Given the description of an element on the screen output the (x, y) to click on. 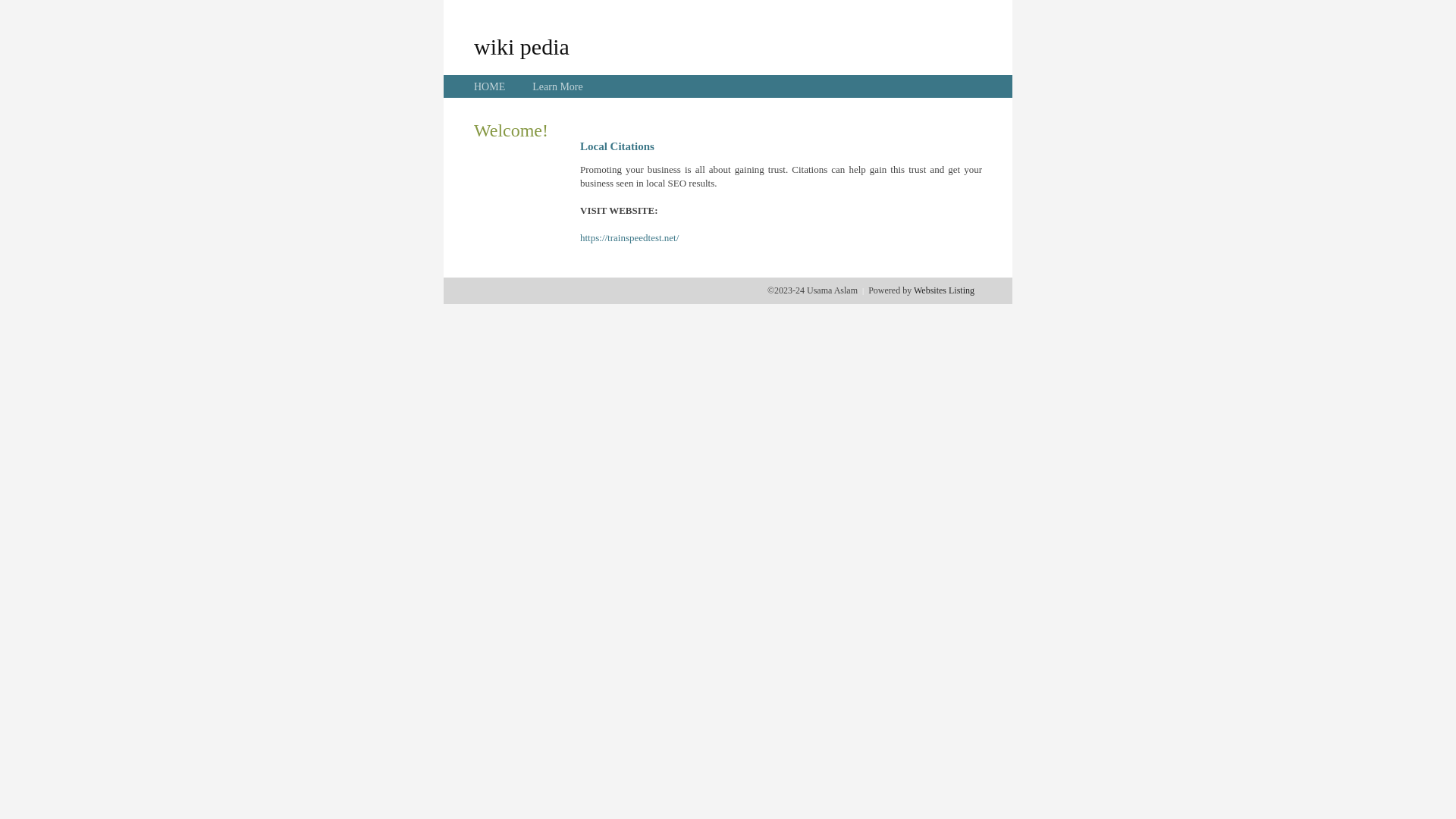
https://trainspeedtest.net/ Element type: text (629, 237)
HOME Element type: text (489, 86)
Websites Listing Element type: text (943, 290)
wiki pedia Element type: text (521, 46)
Learn More Element type: text (557, 86)
